Given the description of an element on the screen output the (x, y) to click on. 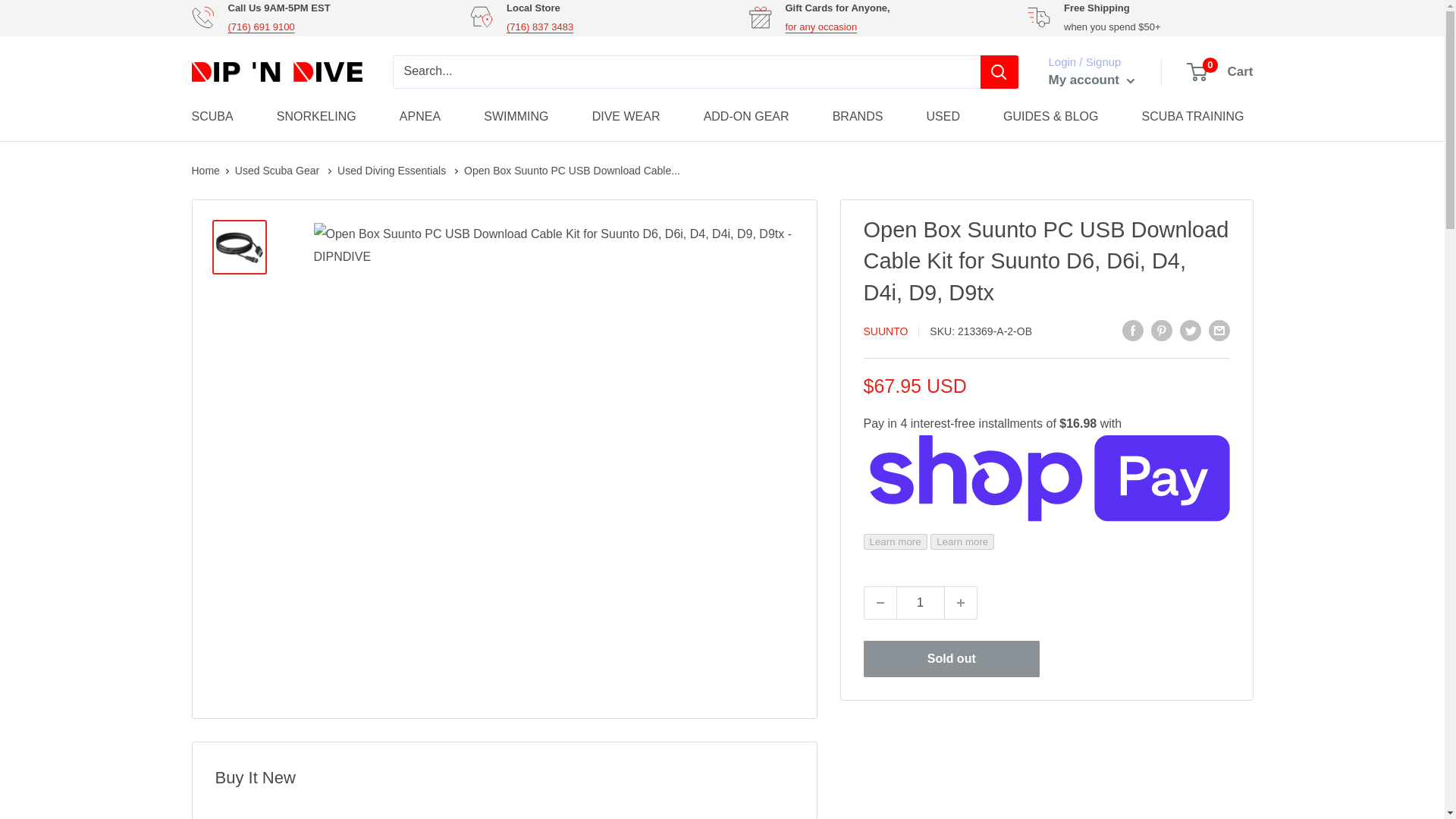
Decrease quantity by 1 (880, 603)
DIPNDIVE Gift Card (821, 26)
1 (920, 603)
for any occasion (821, 26)
Increase quantity by 1 (960, 603)
